Given the description of an element on the screen output the (x, y) to click on. 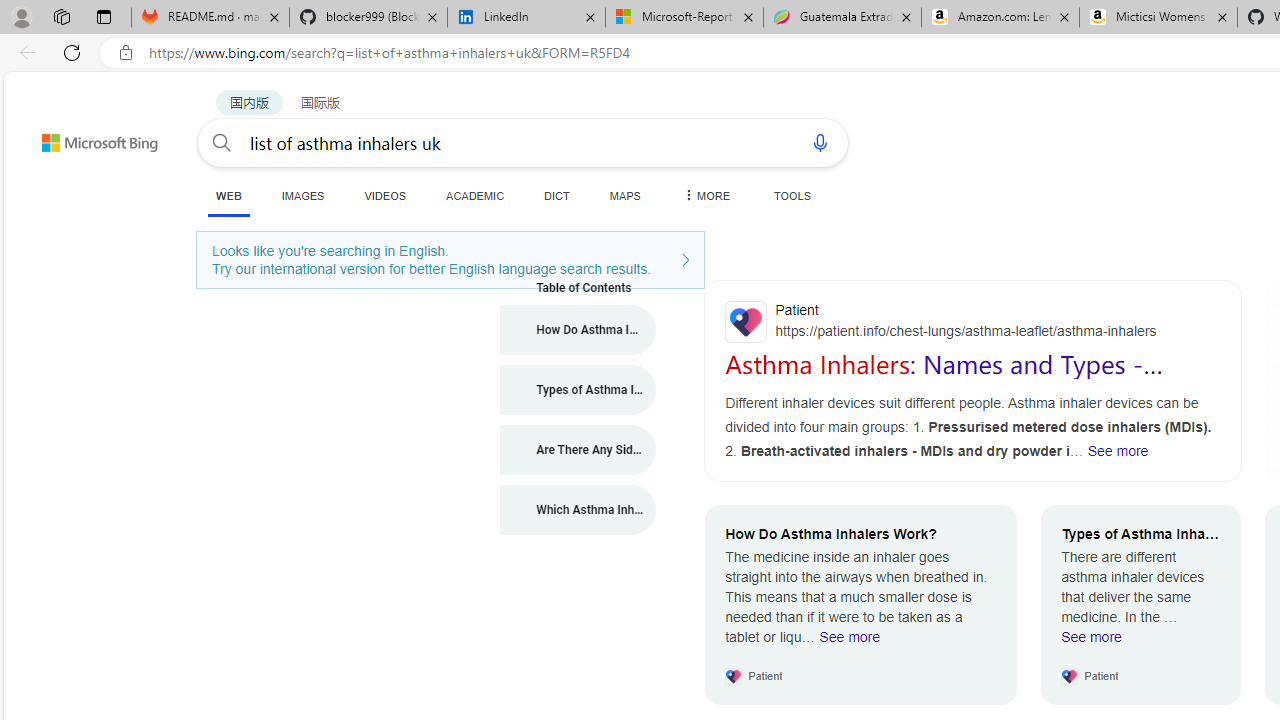
ACADEMIC (475, 195)
DICT (557, 195)
Types of Asthma Inhalers (578, 389)
TOOLS (792, 195)
